Given the description of an element on the screen output the (x, y) to click on. 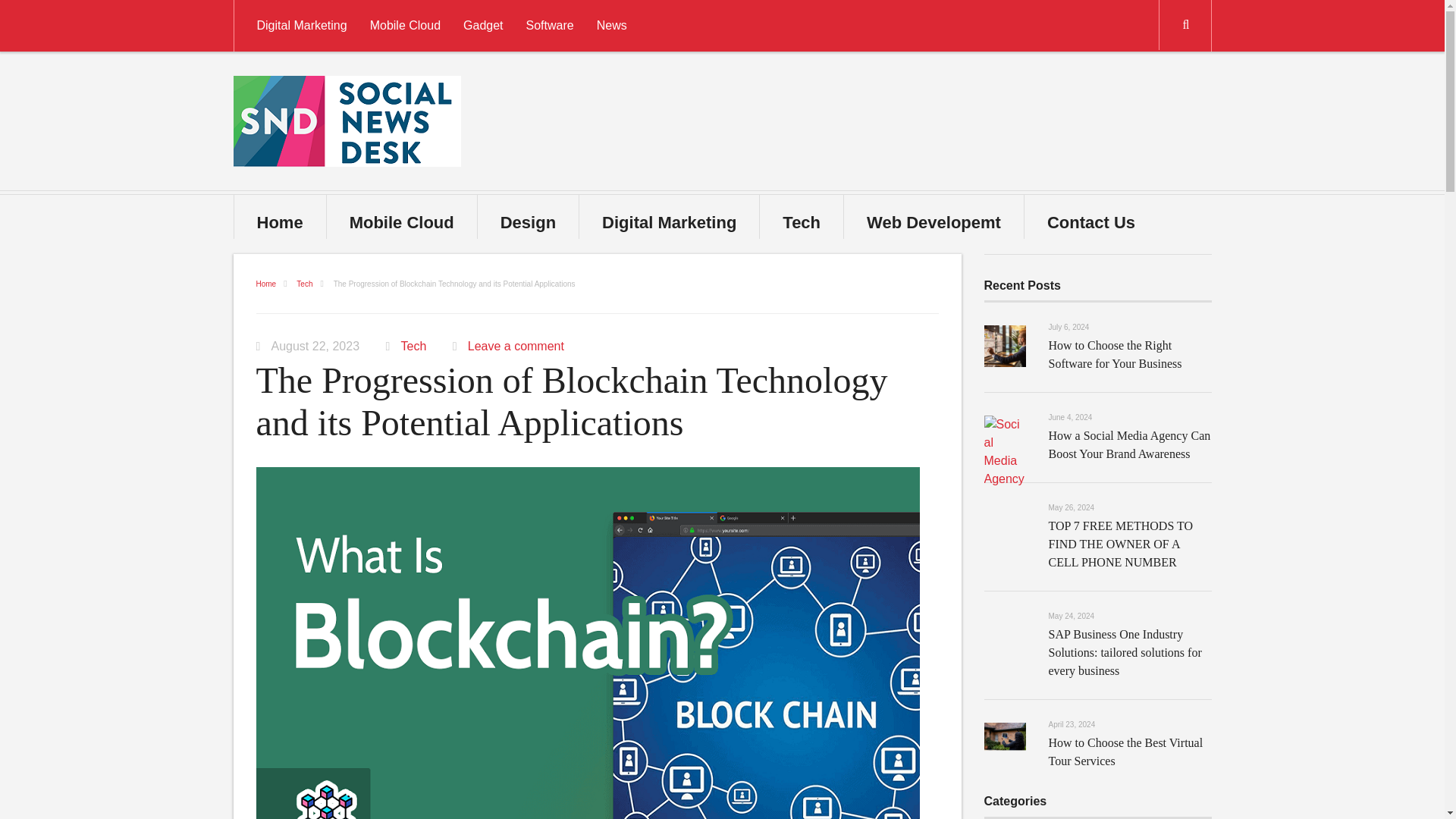
Leave a comment (515, 345)
TOP 7 FREE METHODS TO FIND THE OWNER OF A CELL PHONE NUMBER (1120, 543)
News (612, 25)
Home (279, 216)
Web Developemt (933, 216)
 Skip to content (41, 9)
Gadget (482, 25)
